Given the description of an element on the screen output the (x, y) to click on. 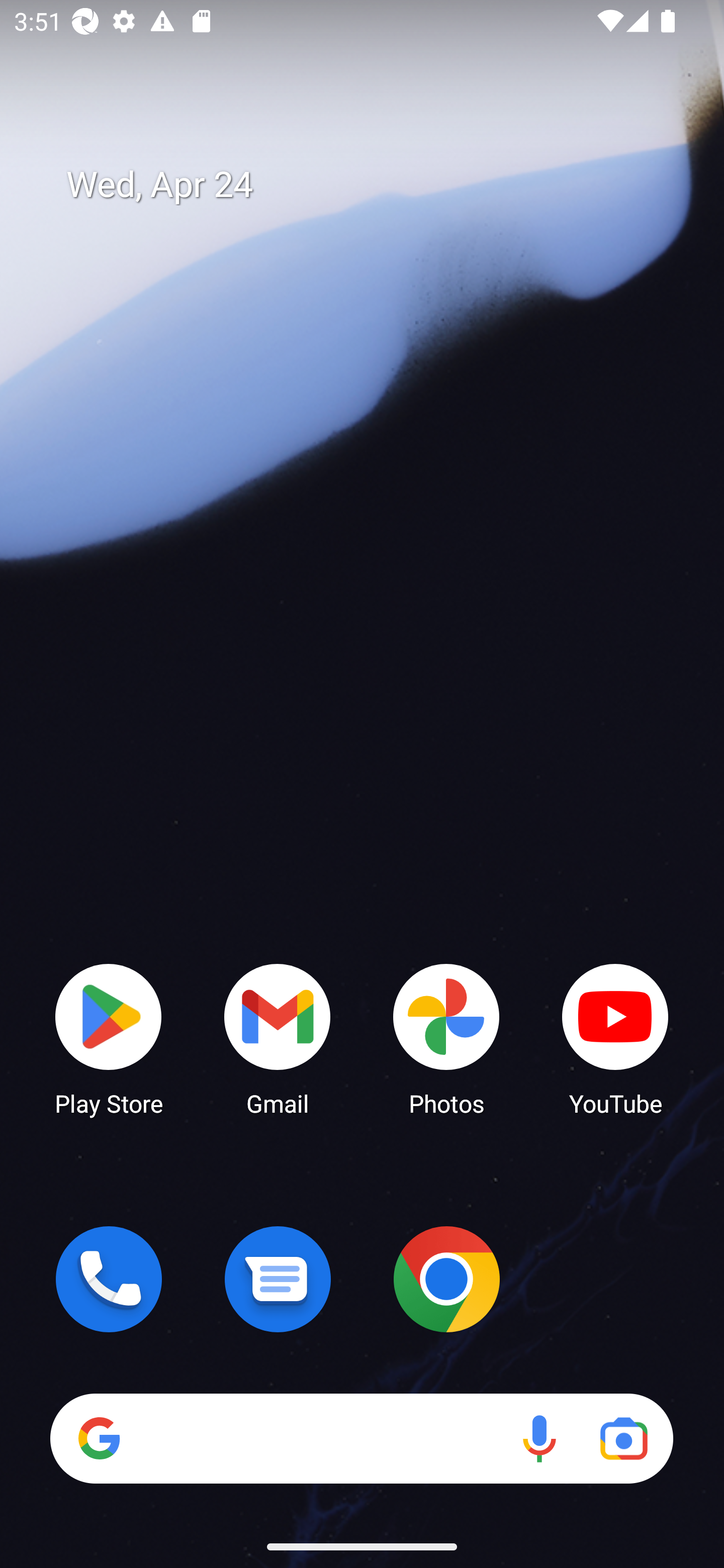
Wed, Apr 24 (375, 184)
Play Store (108, 1038)
Gmail (277, 1038)
Photos (445, 1038)
YouTube (615, 1038)
Phone (108, 1279)
Messages (277, 1279)
Chrome (446, 1279)
Search Voice search Google Lens (361, 1438)
Voice search (539, 1438)
Google Lens (623, 1438)
